Given the description of an element on the screen output the (x, y) to click on. 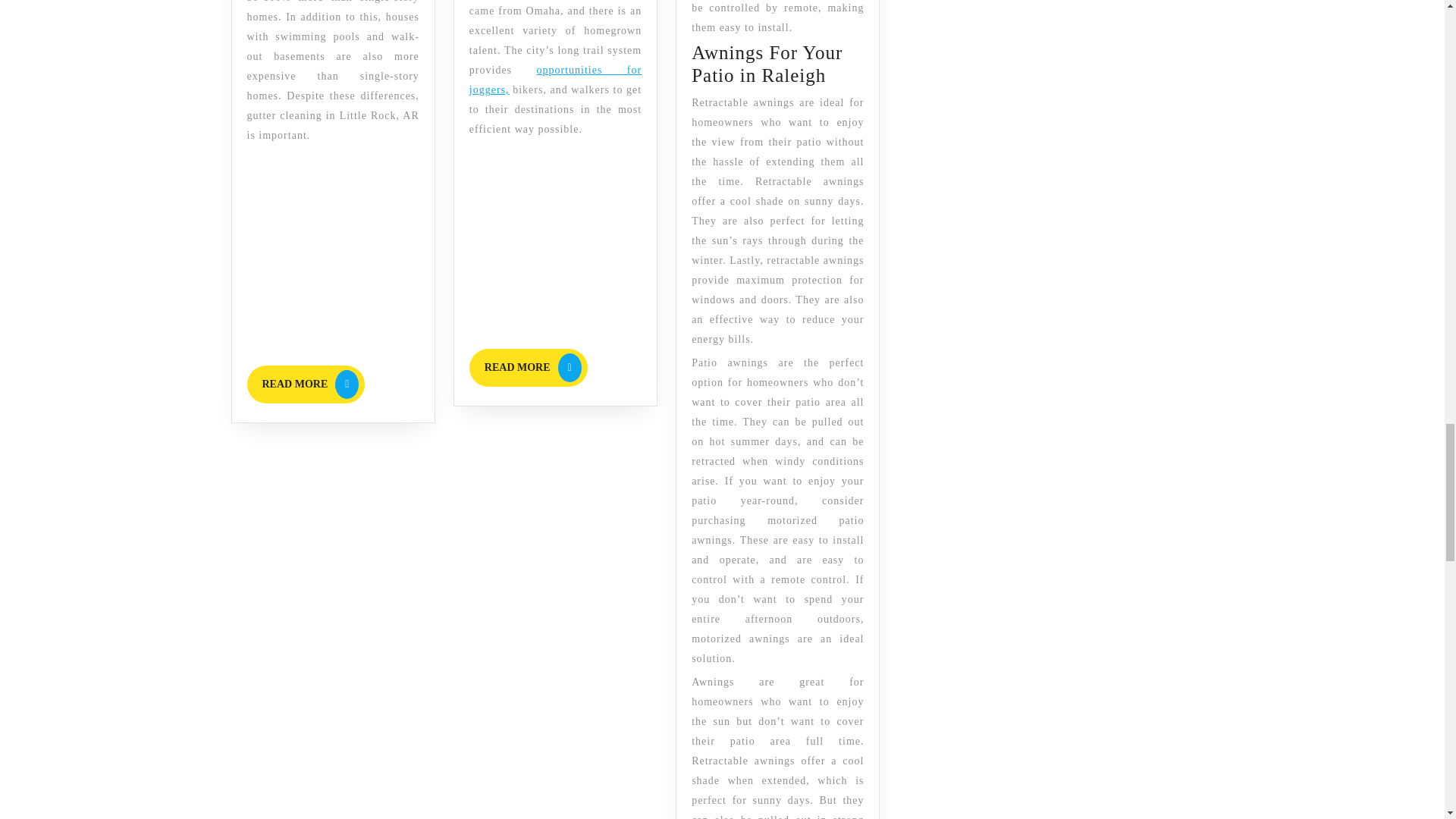
opportunities for joggers, (306, 384)
